Given the description of an element on the screen output the (x, y) to click on. 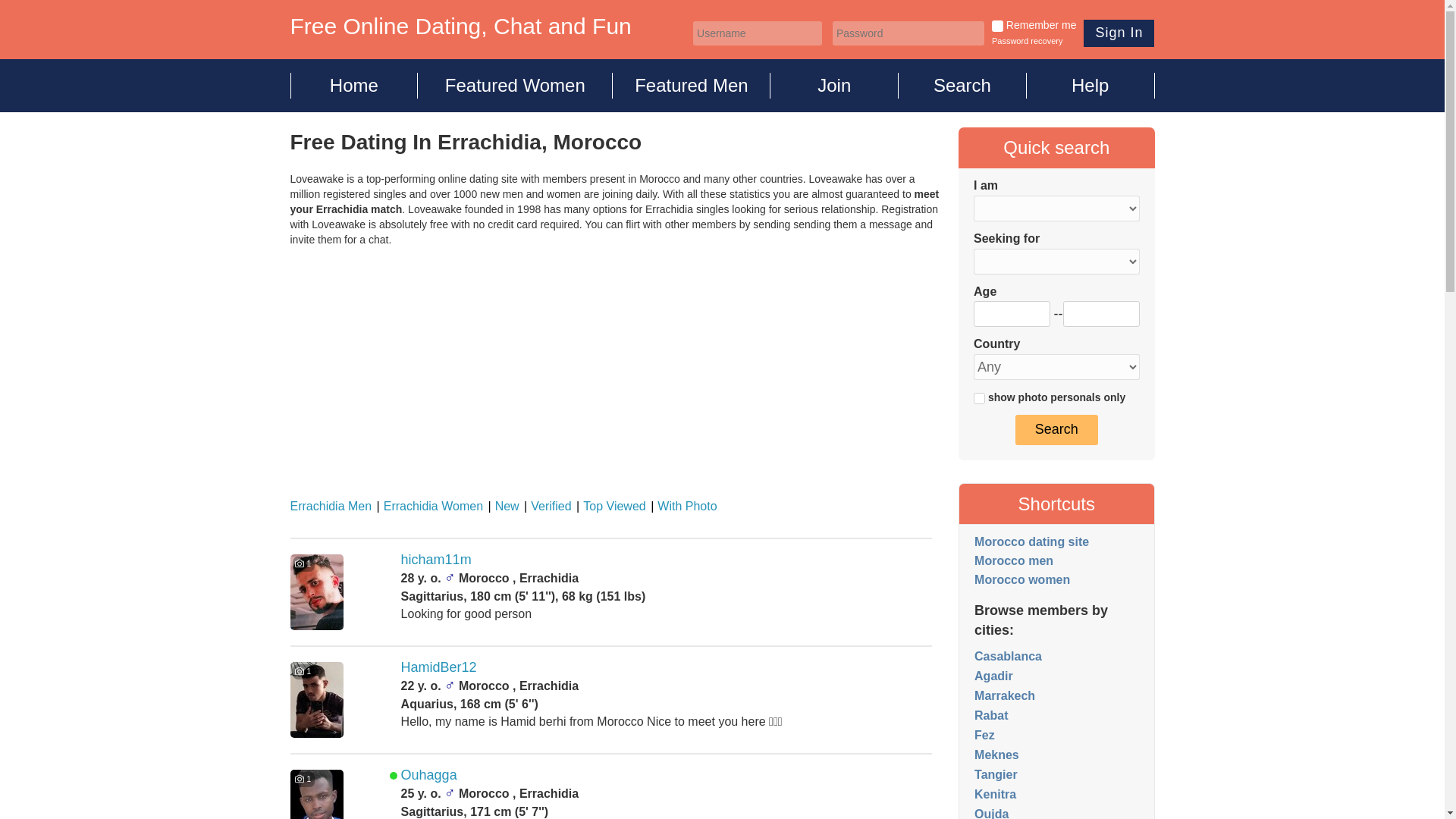
1 (979, 398)
Featured Women (514, 85)
Search (962, 85)
Sign In (1118, 32)
Errachidia Women (429, 505)
Search (1055, 429)
Help (1090, 85)
hicham11m (436, 559)
Sign In (1118, 32)
Password recovery (1026, 40)
Ouhagga (429, 774)
Top Viewed (610, 505)
Join (834, 85)
Verified (547, 505)
Home (353, 85)
